Given the description of an element on the screen output the (x, y) to click on. 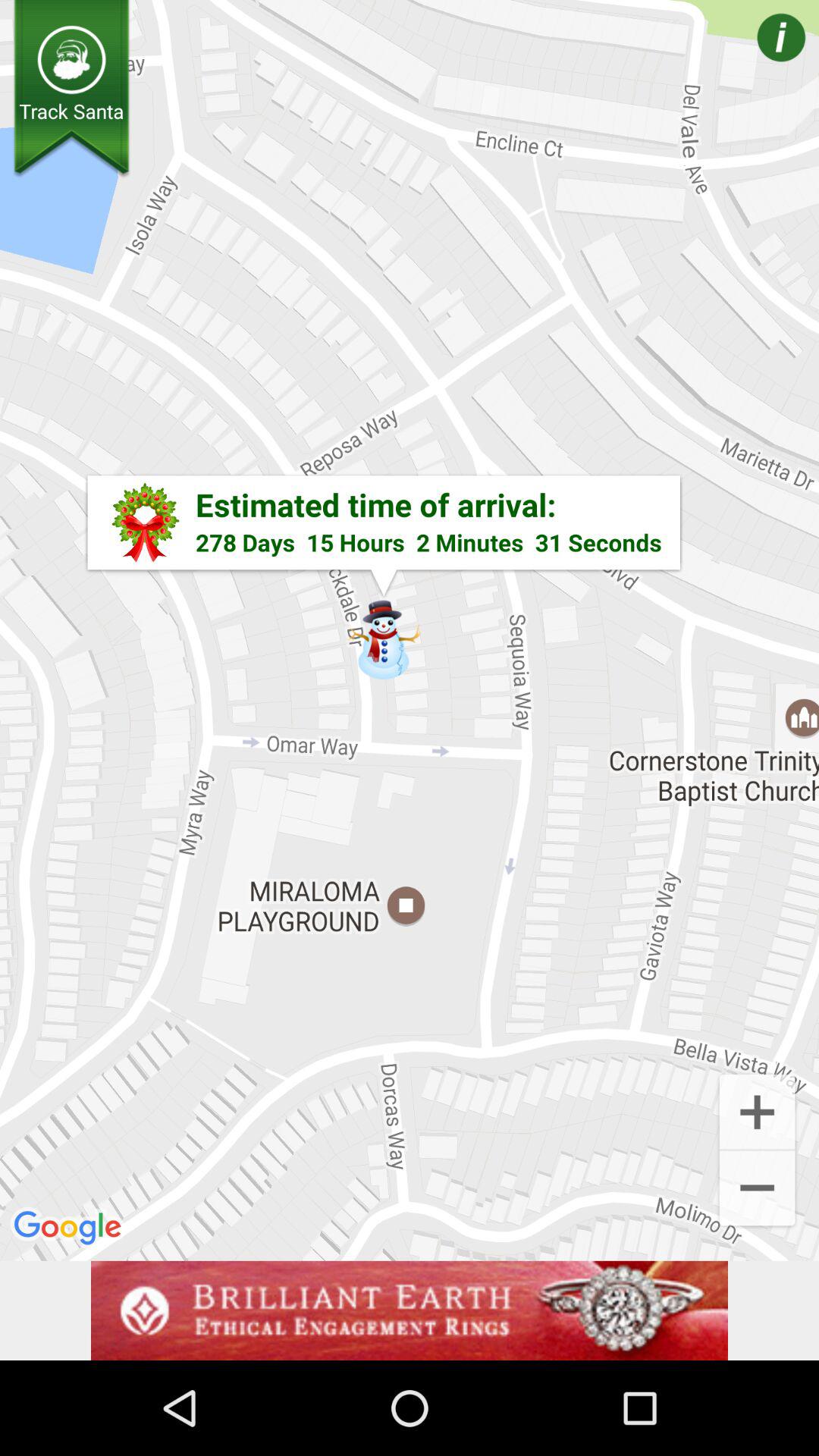
button for more information (759, 59)
